Given the description of an element on the screen output the (x, y) to click on. 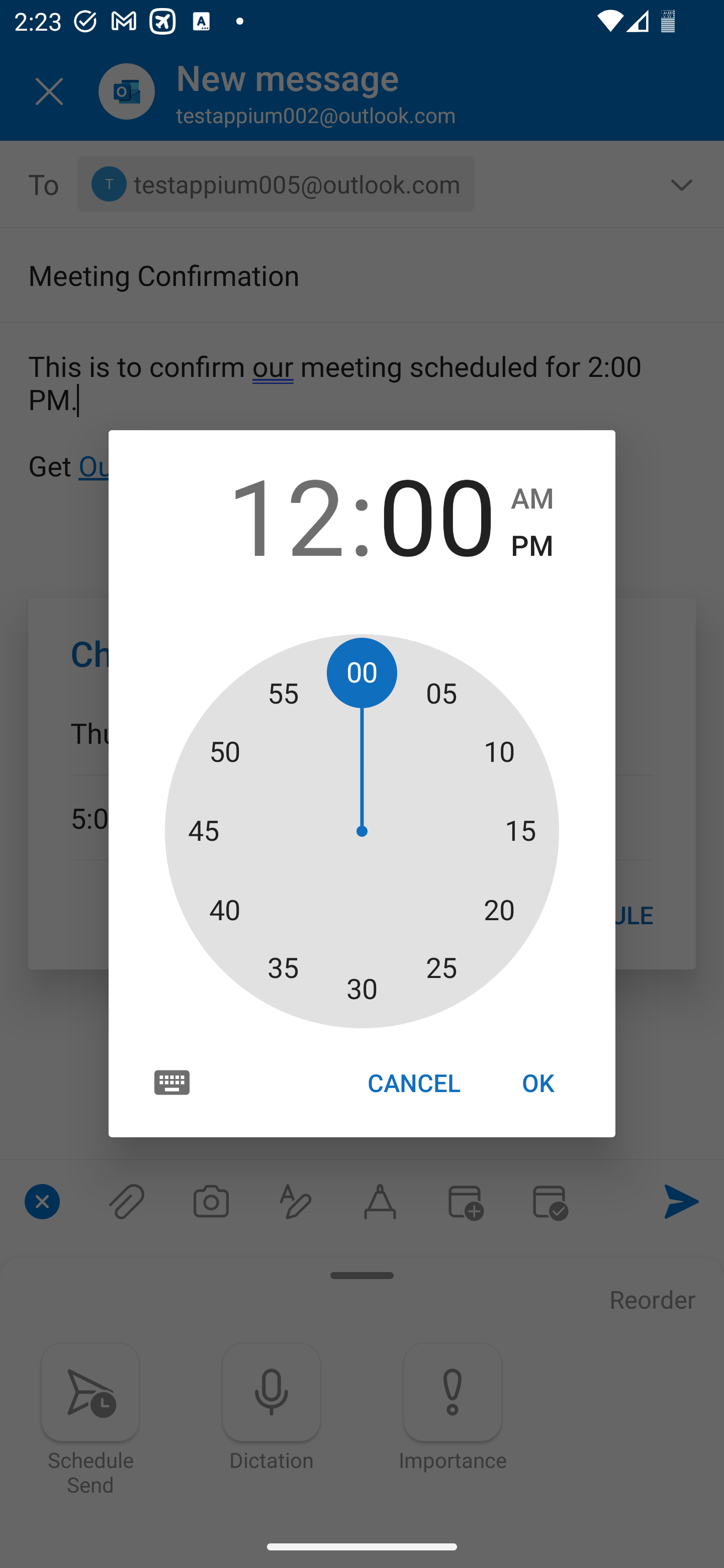
12 (285, 513)
00 (436, 513)
AM (532, 498)
PM (532, 546)
CANCEL (413, 1082)
OK (537, 1082)
Switch to text input mode for the time input. (171, 1081)
